Given the description of an element on the screen output the (x, y) to click on. 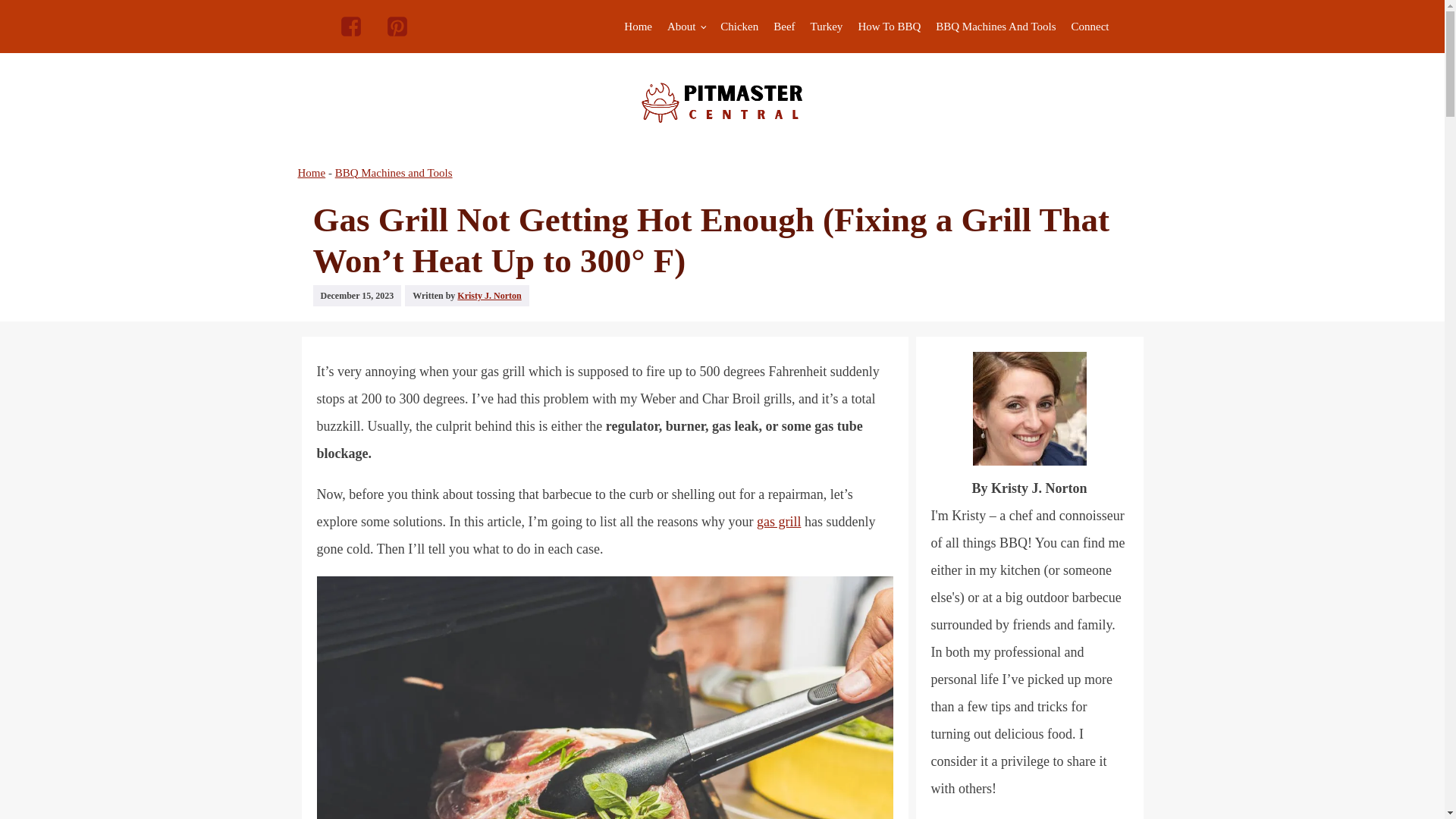
Kristy J. Norton (489, 294)
How To BBQ (889, 26)
Home (637, 26)
gas grill (779, 521)
Beef (783, 26)
BBQ Machines And Tools (995, 26)
Home (310, 173)
About (686, 26)
Chicken (739, 26)
Turkey (826, 26)
